Given the description of an element on the screen output the (x, y) to click on. 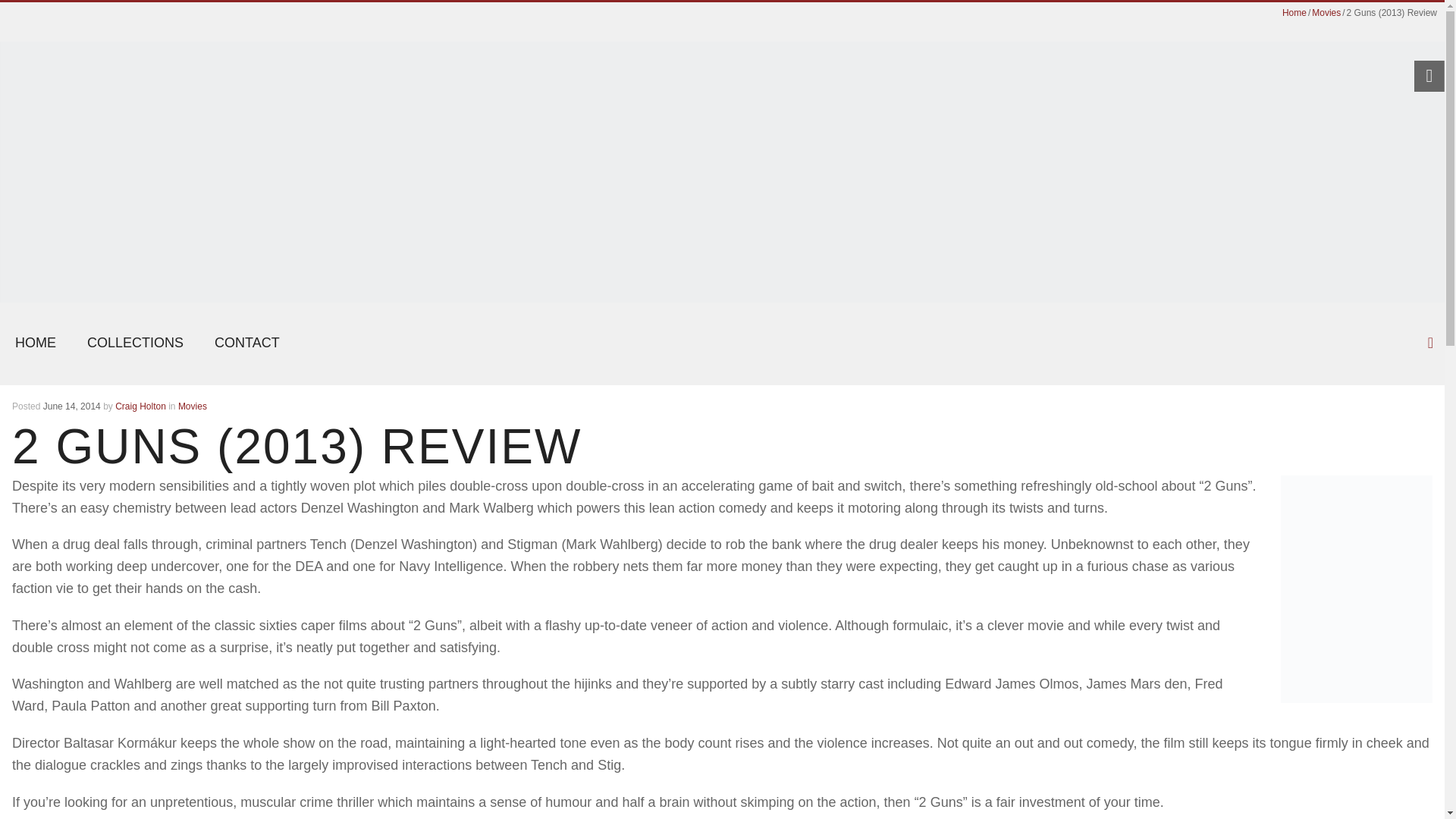
Home (1294, 12)
COLLECTIONS (134, 342)
Movies (191, 406)
Craig Holton (140, 406)
CONTACT (247, 342)
HOME (35, 342)
Movies (1325, 12)
